Given the description of an element on the screen output the (x, y) to click on. 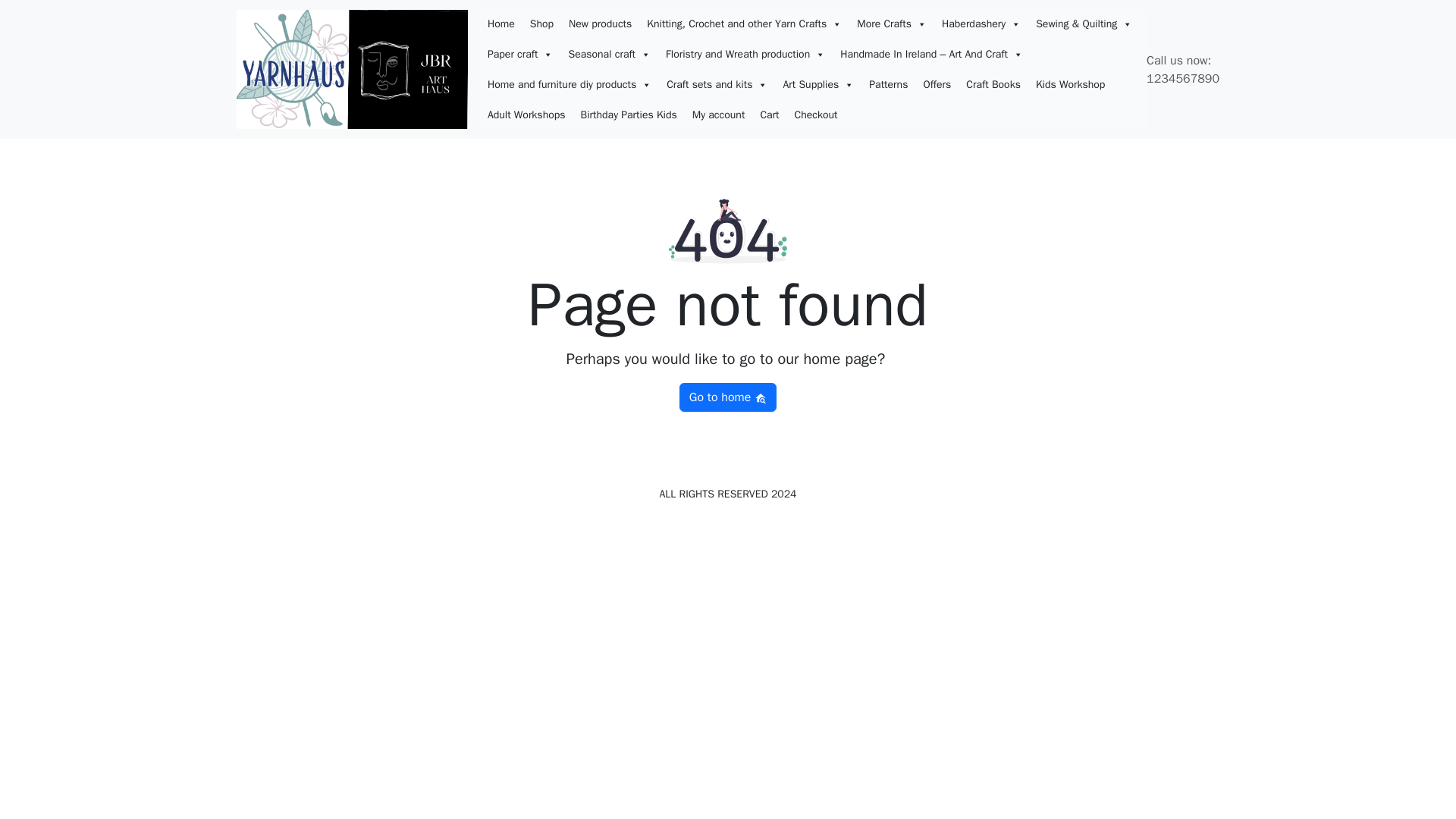
Shop (541, 24)
More Crafts (891, 24)
Home (501, 24)
Knitting, Crochet and other Yarn Crafts (743, 24)
New products (599, 24)
